Given the description of an element on the screen output the (x, y) to click on. 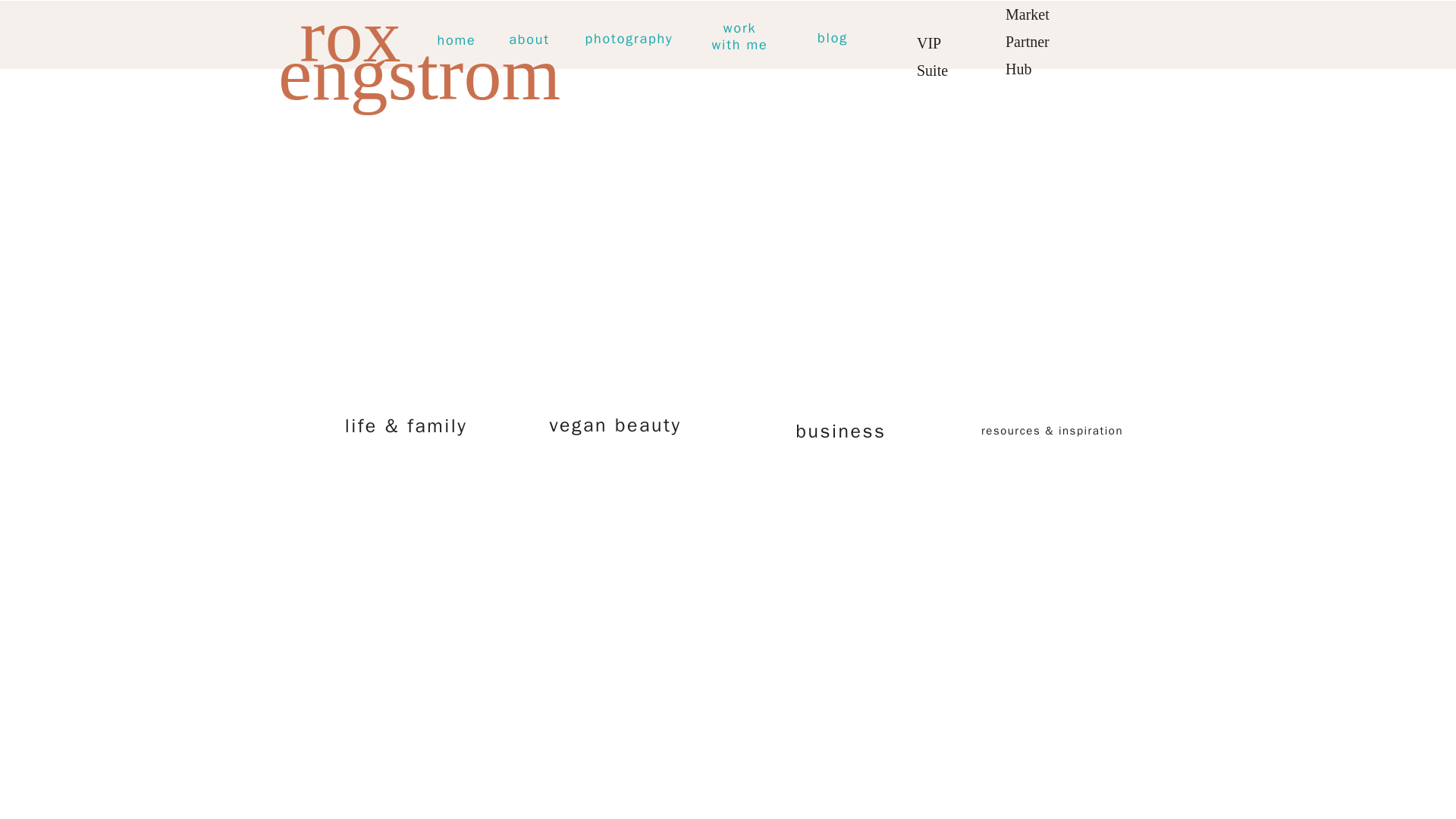
photography (628, 39)
blog (832, 38)
about (529, 39)
Market Partner Hub (1039, 34)
VIP Suite (942, 38)
vegan beauty (614, 424)
home (739, 38)
business (456, 40)
let's connect (840, 431)
